Given the description of an element on the screen output the (x, y) to click on. 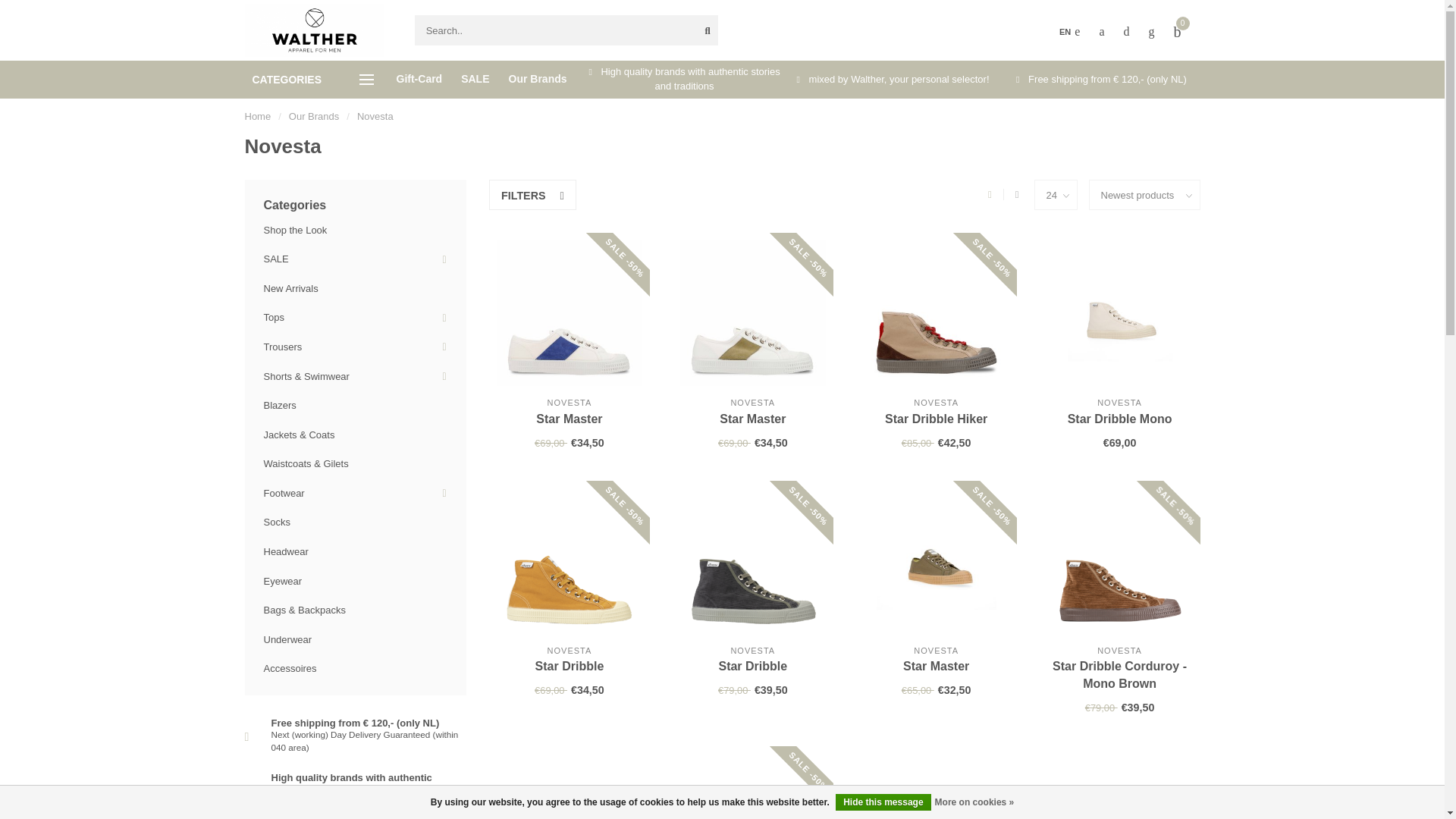
Novesta Star Master (568, 418)
Novesta Star Dribble (752, 560)
Novesta Star Dribble (569, 560)
Novesta Star Dribble Hiker (936, 312)
Novesta Star Dribble Mono (1119, 418)
Novesta Star Dribble Mono (1119, 312)
Novesta Star Dribble (752, 666)
Novesta Star Dribble Hiker (936, 418)
EN (1069, 31)
Novesta Star Master (752, 418)
Novesta Star Master (569, 312)
Home (257, 116)
Novesta Star Master (752, 312)
Novesta Star Dribble (569, 666)
